Given the description of an element on the screen output the (x, y) to click on. 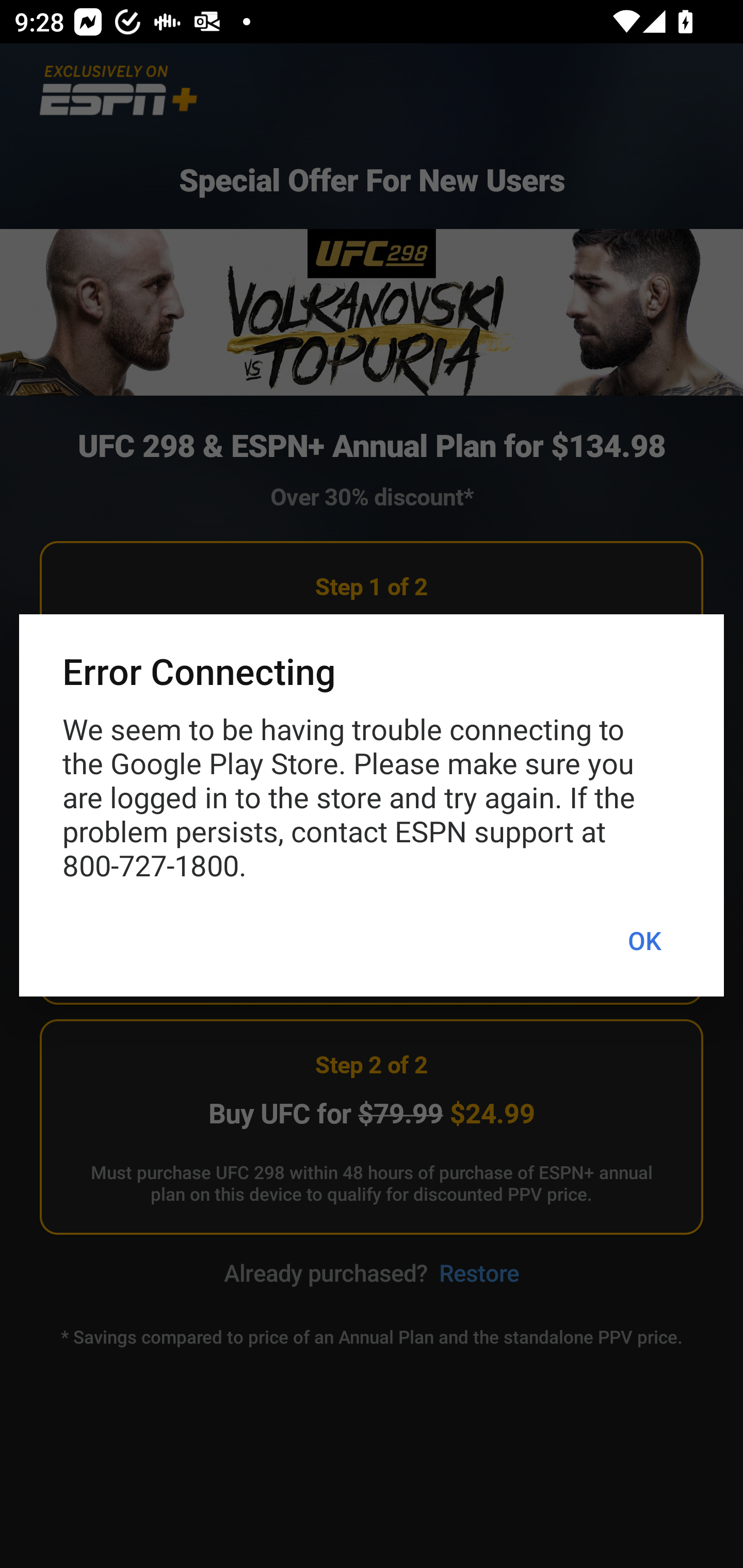
OK (644, 940)
